Given the description of an element on the screen output the (x, y) to click on. 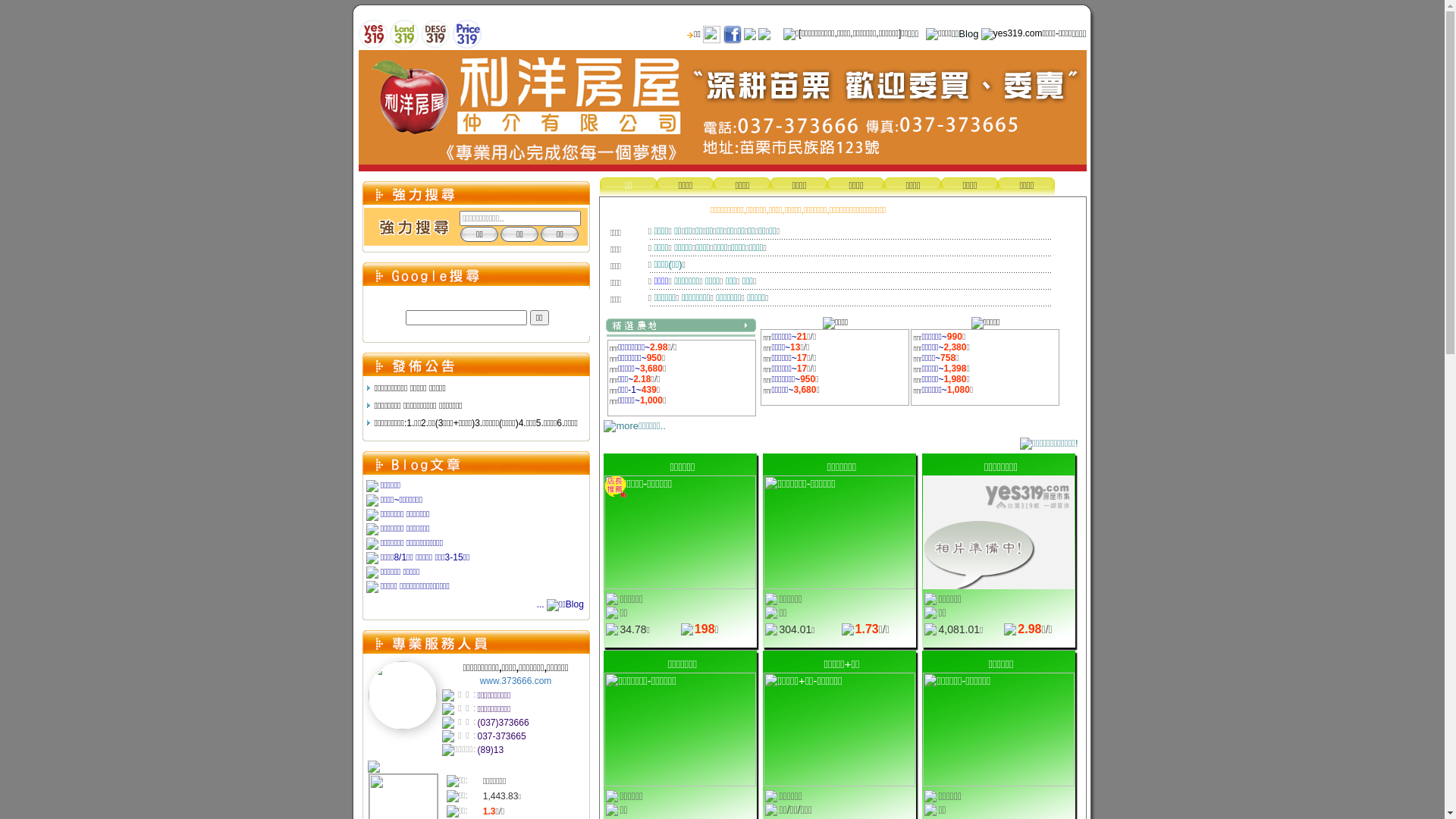
... Element type: text (561, 604)
www.373666.com Element type: text (516, 680)
